Given the description of an element on the screen output the (x, y) to click on. 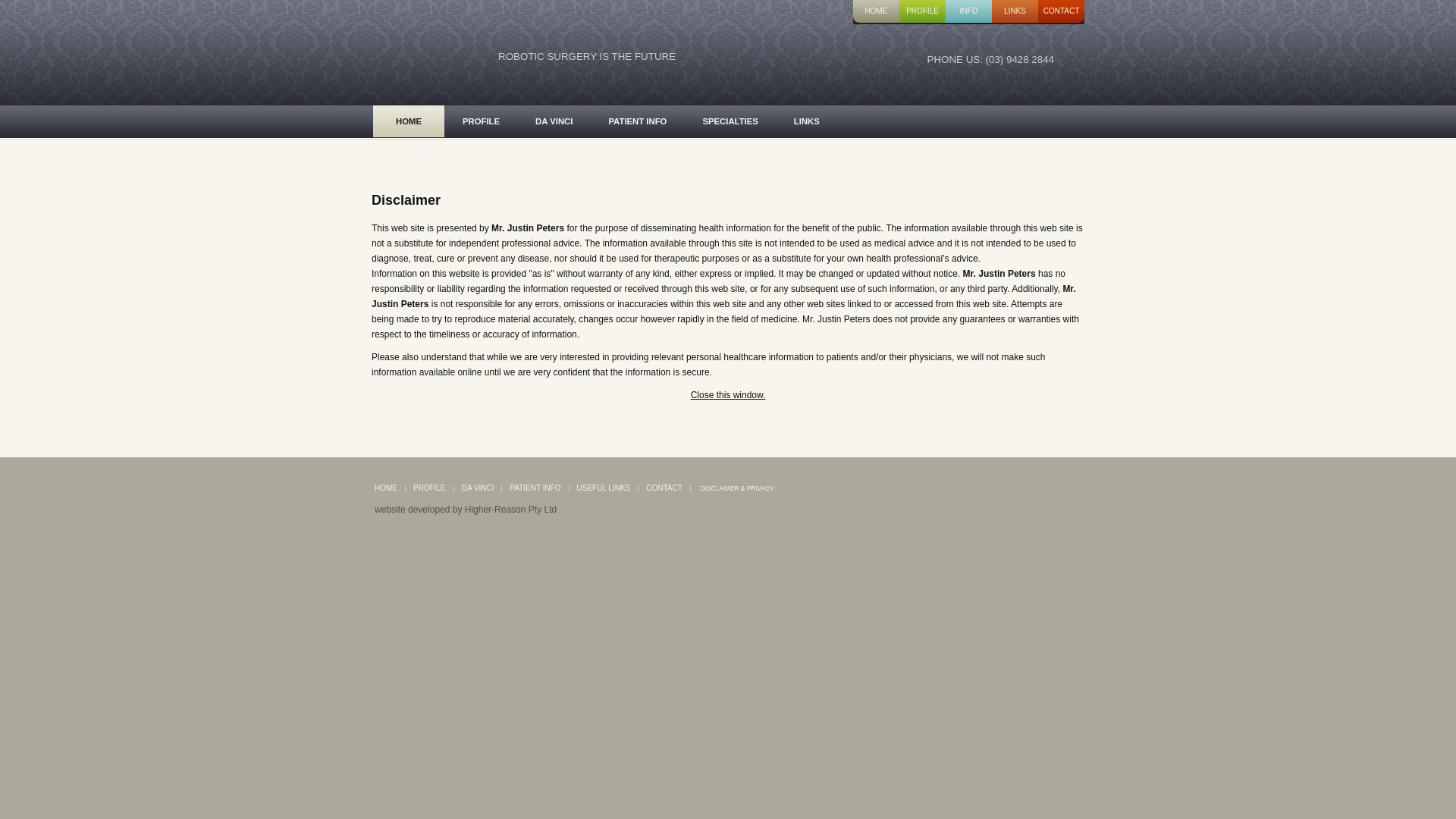
Close this window. Element type: text (727, 394)
CONTACT Element type: text (1061, 12)
DA VINCI Element type: text (477, 487)
PATIENT INFO Element type: text (636, 120)
SPECIALTIES Element type: text (729, 120)
PROFILE Element type: text (429, 487)
LINKS Element type: text (806, 120)
USEFUL LINKS Element type: text (603, 487)
HOME Element type: text (408, 121)
PATIENT INFO Element type: text (534, 487)
DA VINCI Element type: text (553, 120)
HOME Element type: text (876, 12)
HOME Element type: text (385, 487)
LINKS Element type: text (1014, 12)
PROFILE Element type: text (480, 120)
CONTACT Element type: text (411, 153)
CONTACT Element type: text (664, 487)
INFO Element type: text (968, 12)
DISCLAIMER & PRIVACY Element type: text (737, 488)
PROFILE Element type: text (922, 12)
